Given the description of an element on the screen output the (x, y) to click on. 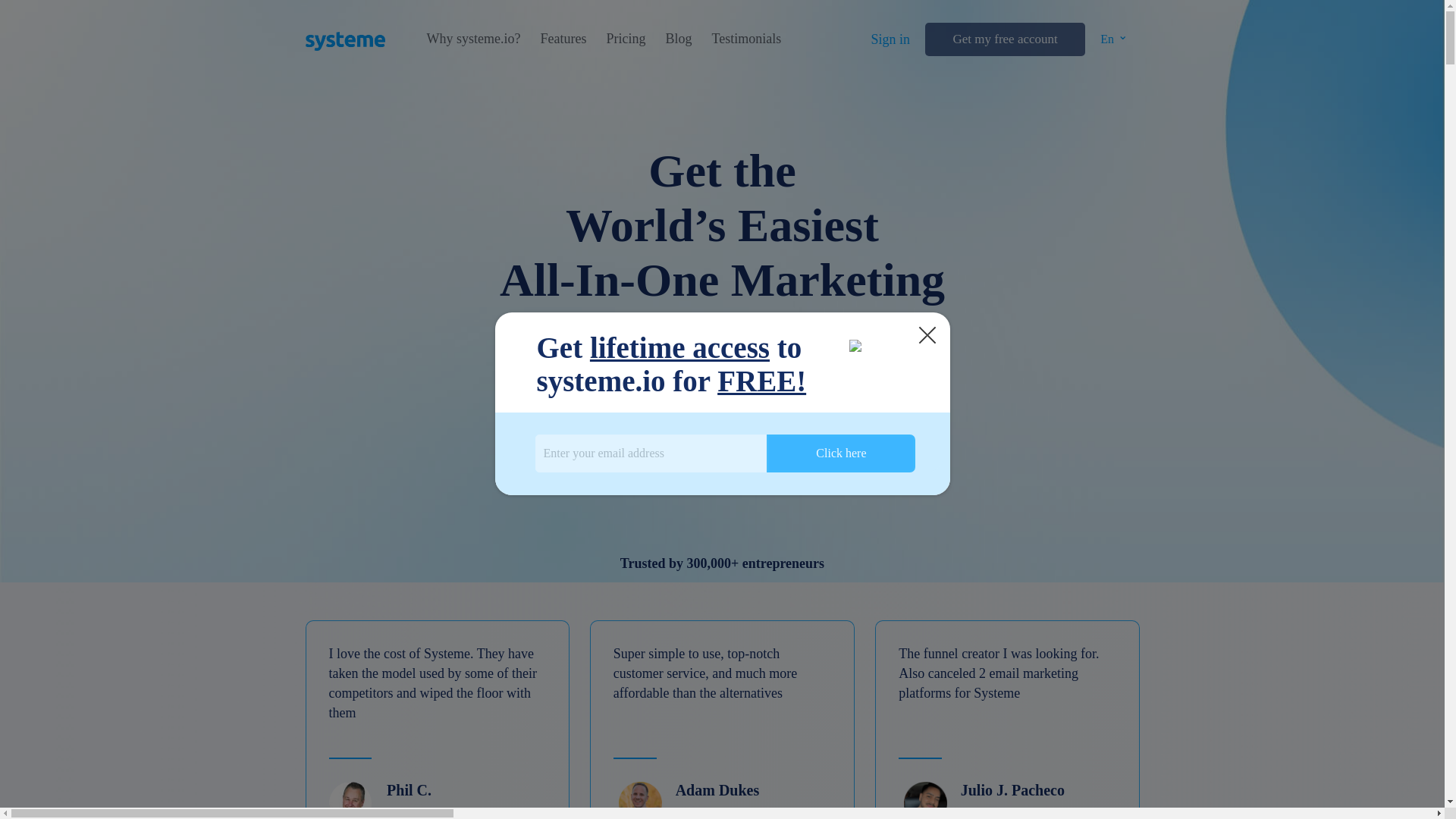
Get my free account (1004, 39)
Why systeme.io? (472, 38)
Pricing (625, 38)
Sign in (890, 39)
Blog (678, 38)
Features (563, 38)
Testimonials (745, 38)
